Given the description of an element on the screen output the (x, y) to click on. 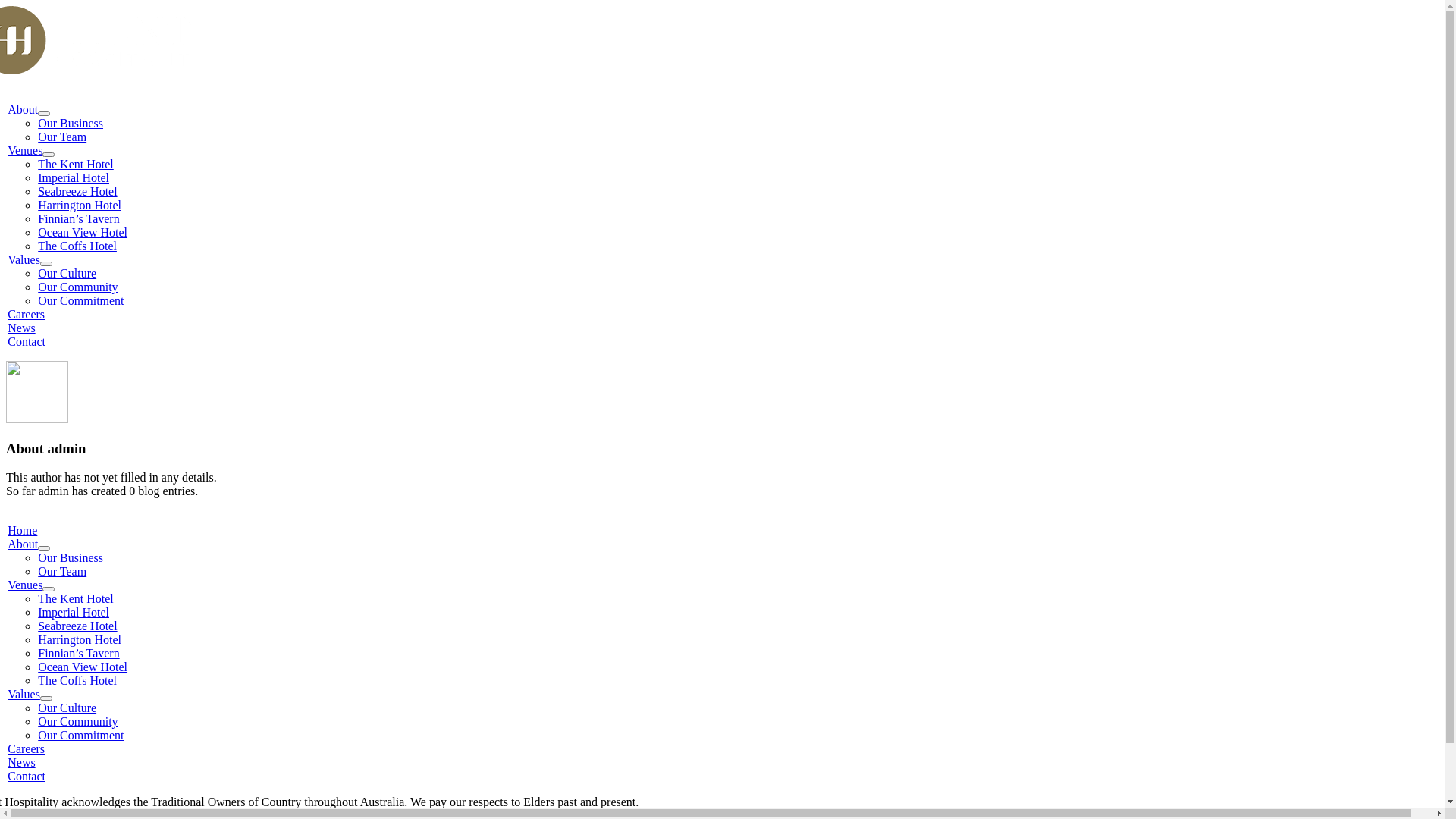
Ocean View Hotel Element type: text (82, 231)
Venues Element type: text (24, 584)
About Element type: text (22, 109)
Our Business Element type: text (70, 122)
Our Community Element type: text (77, 721)
News Element type: text (20, 762)
About Element type: text (22, 543)
Skip to content Element type: text (5, 5)
Our Culture Element type: text (66, 707)
The Kent Hotel Element type: text (75, 598)
Harrington Hotel Element type: text (79, 639)
The Coffs Hotel Element type: text (76, 245)
Our Community Element type: text (77, 286)
Our Commitment Element type: text (80, 734)
Our Team Element type: text (61, 136)
Our Team Element type: text (61, 570)
Venues Element type: text (24, 150)
Values Element type: text (23, 259)
Careers Element type: text (25, 313)
Seabreeze Hotel Element type: text (76, 191)
Imperial Hotel Element type: text (73, 611)
Values Element type: text (23, 693)
Ocean View Hotel Element type: text (82, 666)
Harrington Hotel Element type: text (79, 204)
Home Element type: text (22, 530)
Contact Element type: text (26, 341)
Our Business Element type: text (70, 557)
The Coffs Hotel Element type: text (76, 680)
Careers Element type: text (25, 748)
Contact Element type: text (26, 775)
The Kent Hotel Element type: text (75, 163)
Our Culture Element type: text (66, 272)
Seabreeze Hotel Element type: text (76, 625)
Our Commitment Element type: text (80, 300)
News Element type: text (20, 327)
Imperial Hotel Element type: text (73, 177)
